Given the description of an element on the screen output the (x, y) to click on. 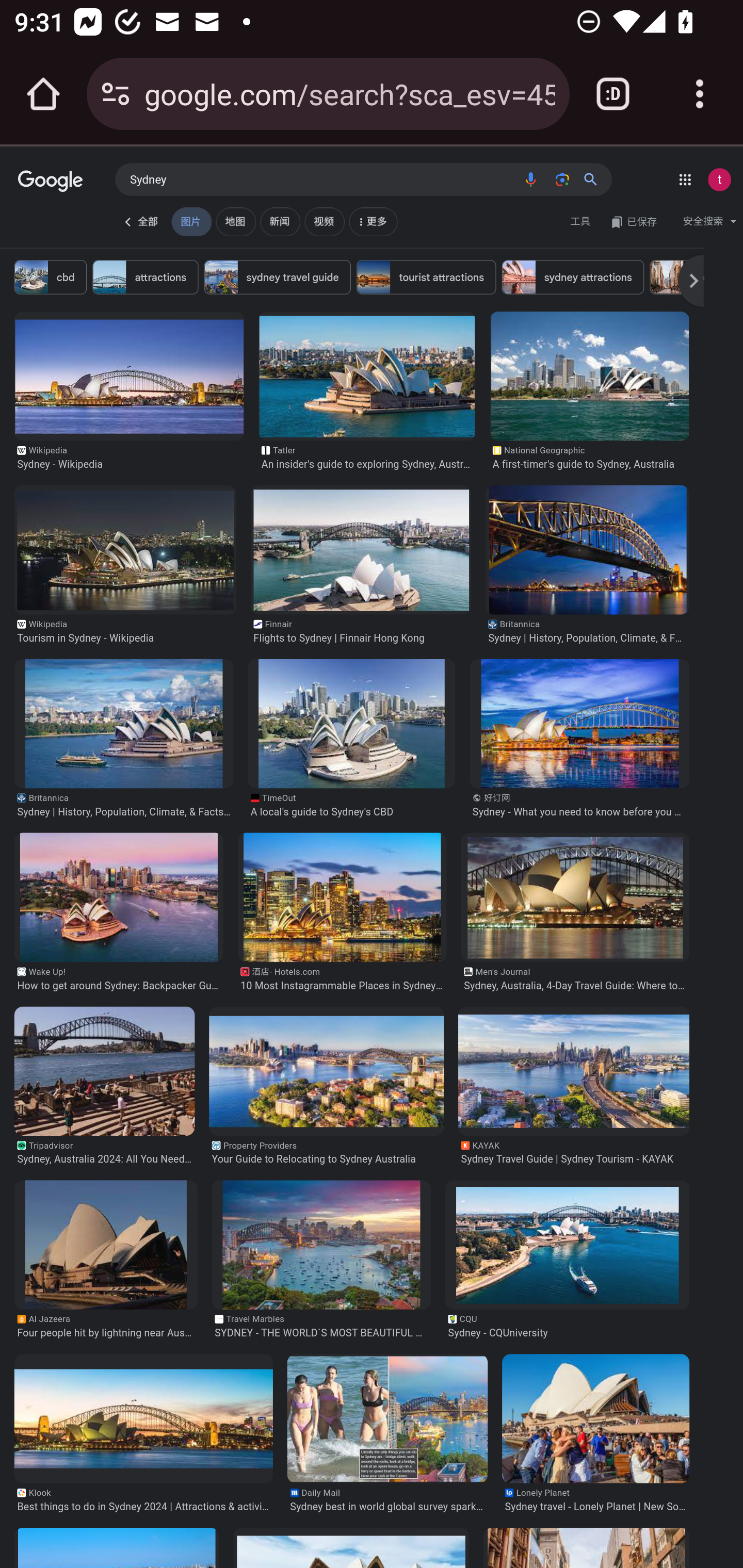
Open the home page (43, 93)
Connection is secure (115, 93)
Switch or close tabs (612, 93)
Customize and control Google Chrome (699, 93)
语音搜索 (528, 178)
按图片搜索 (560, 178)
Google 搜索 (594, 178)
Google 应用 (684, 179)
Google 账号： test appium (testappium002@gmail.com) (719, 179)
前往 Google 首页 (51, 181)
Sydney (321, 178)
更多过滤条件 (374, 218)
安全搜索 (708, 221)
全部 (140, 221)
地图 (235, 221)
新闻 (279, 221)
视频 (324, 221)
工具 (579, 221)
已保存 (633, 221)
下一个 (690, 280)
cbd (50, 276)
attractions (145, 276)
sydney travel guide (276, 276)
tourist attractions (425, 276)
sydney attractions (572, 276)
Sydney - Wikipedia (128, 375)
A first-timer's guide to Sydney, Australia (589, 375)
WikipediaSydney - Wikipedia (128, 456)
Tourism in Sydney - Wikipedia (125, 549)
Flights to Sydney | Finnair Hong Kong (360, 549)
WikipediaTourism in Sydney - Wikipedia (125, 630)
FinnairFlights to Sydney | Finnair Hong Kong (360, 630)
A local's guide to Sydney's CBD (350, 723)
TimeOutA local's guide to Sydney's CBD (350, 804)
Your Guide to Relocating to Sydney Australia (325, 1070)
Sydney Travel Guide | Sydney Tourism - KAYAK (573, 1070)
KAYAKSydney Travel Guide | Sydney Tourism - KAYAK (573, 1152)
Sydney - CQUniversity (567, 1244)
CQUSydney - CQUniversity (567, 1326)
